Given the description of an element on the screen output the (x, y) to click on. 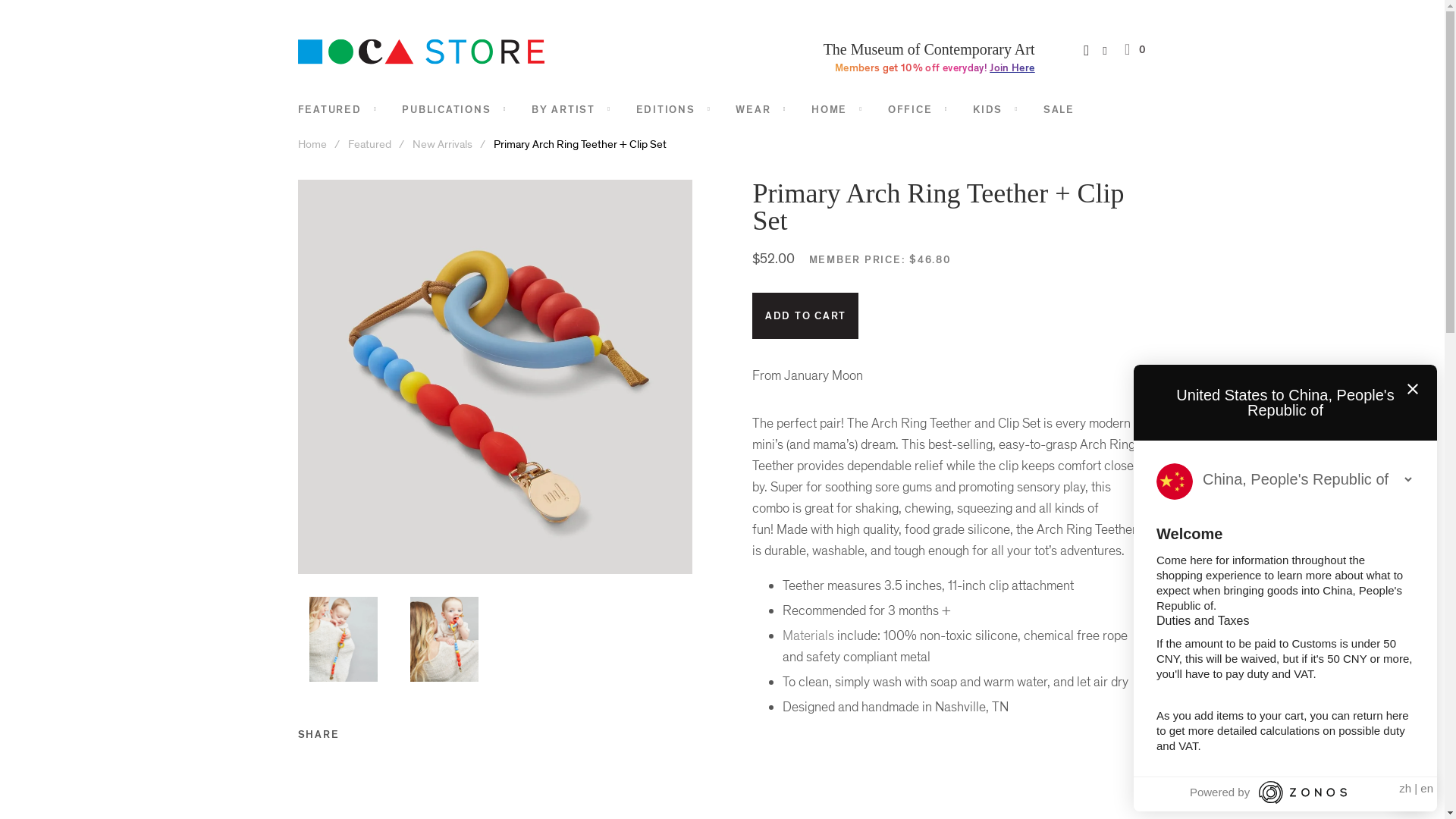
Add to Cart (805, 315)
Open Zonos Hello (1411, 791)
MOCA Store (313, 144)
Select your country (1306, 479)
